Given the description of an element on the screen output the (x, y) to click on. 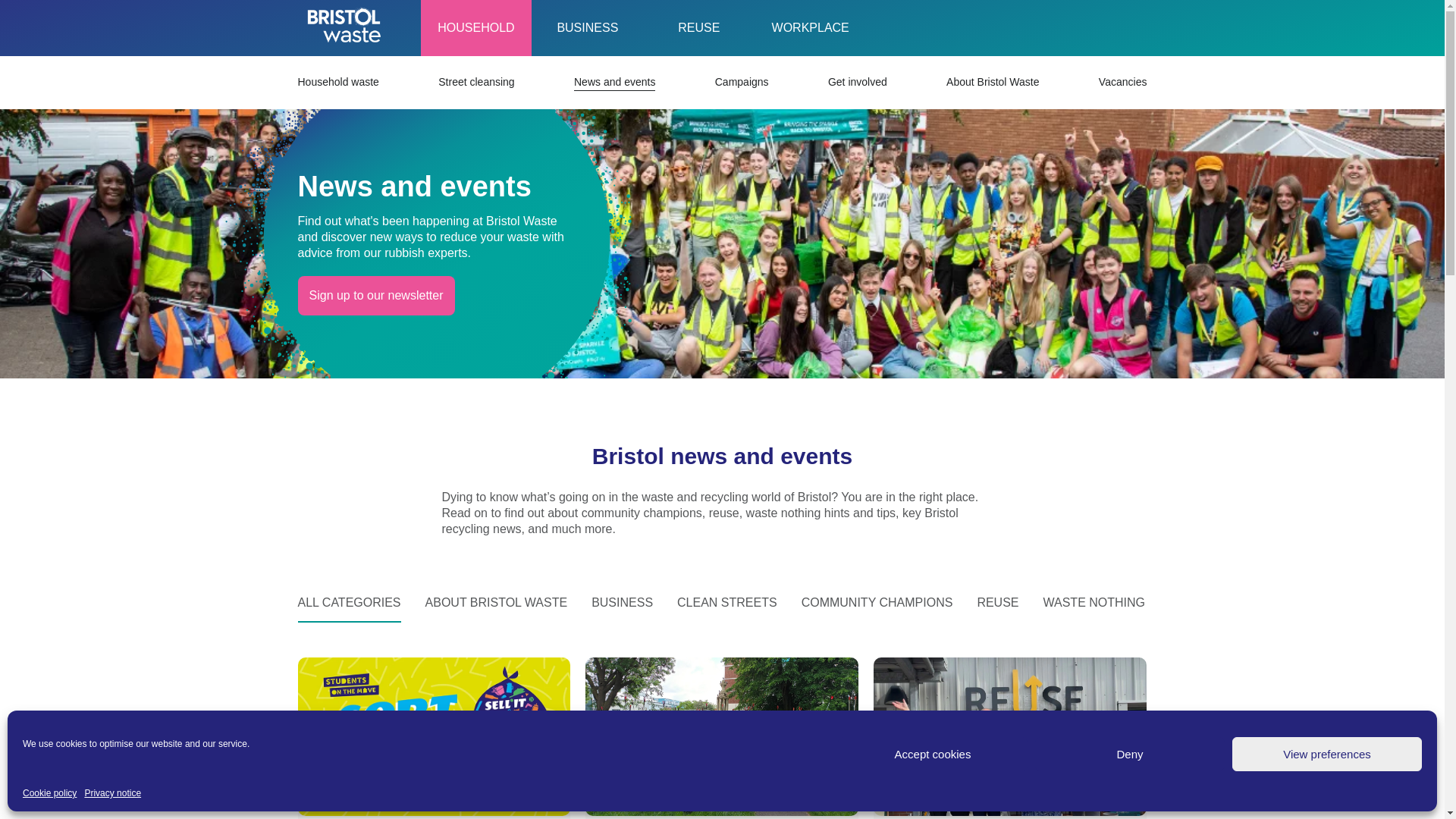
View preferences (1326, 754)
Cookie policy (50, 793)
Skip to content (385, 26)
BUSINESS (587, 28)
BUSINESS (587, 28)
WORKPLACE (810, 28)
WORKPLACE (810, 28)
REUSE (698, 28)
HOUSEHOLD (474, 28)
REUSE (698, 28)
Deny (1129, 754)
Accept cookies (932, 754)
Household waste (337, 82)
HOUSEHOLD (474, 28)
Privacy notice (112, 793)
